Given the description of an element on the screen output the (x, y) to click on. 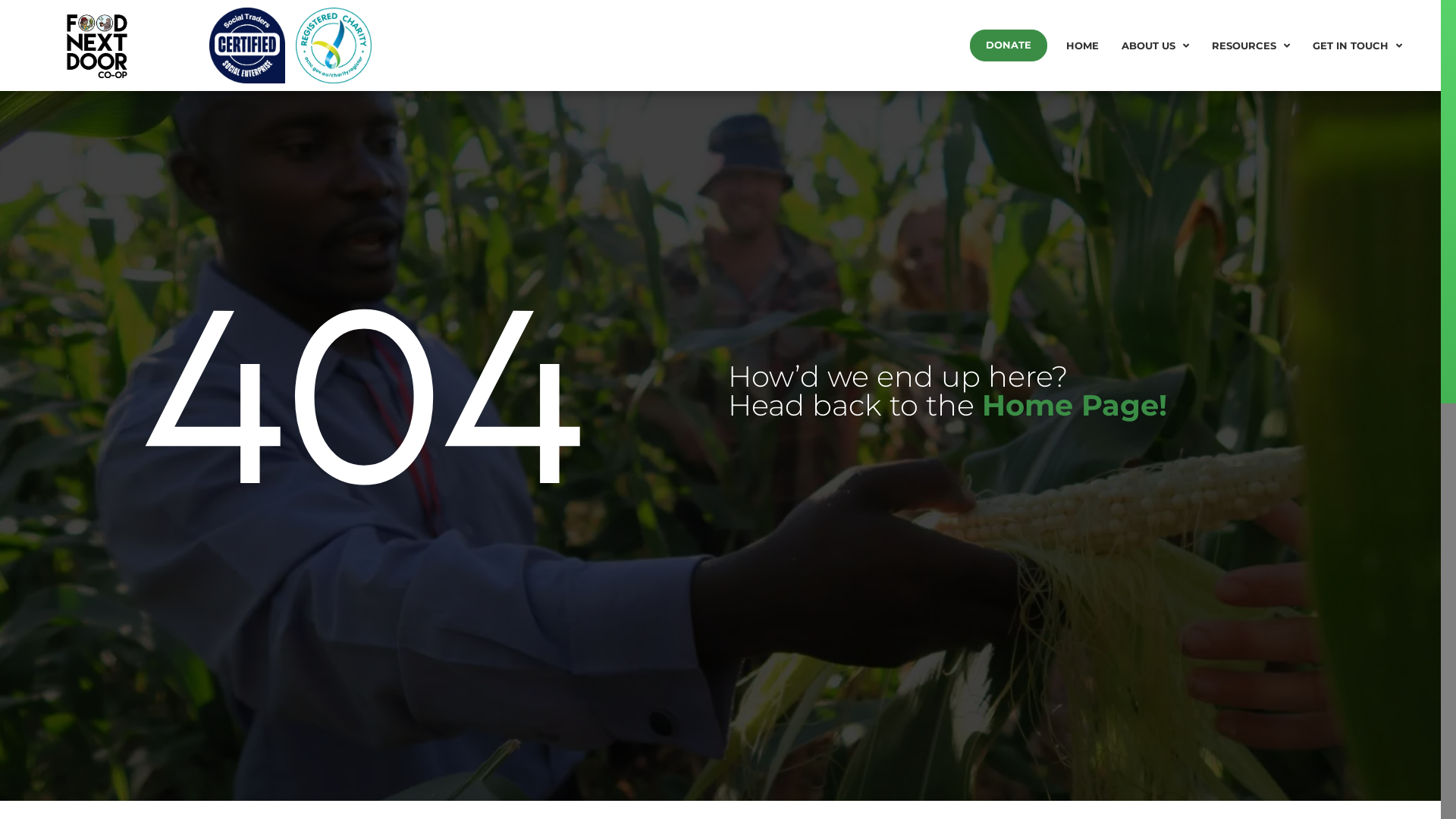
DONATE Element type: text (1008, 45)
ABOUT US Element type: text (1155, 45)
Home Page! Element type: text (1074, 405)
HOME Element type: text (1082, 45)
RESOURCES Element type: text (1250, 45)
GET IN TOUCH Element type: text (1357, 45)
